Given the description of an element on the screen output the (x, y) to click on. 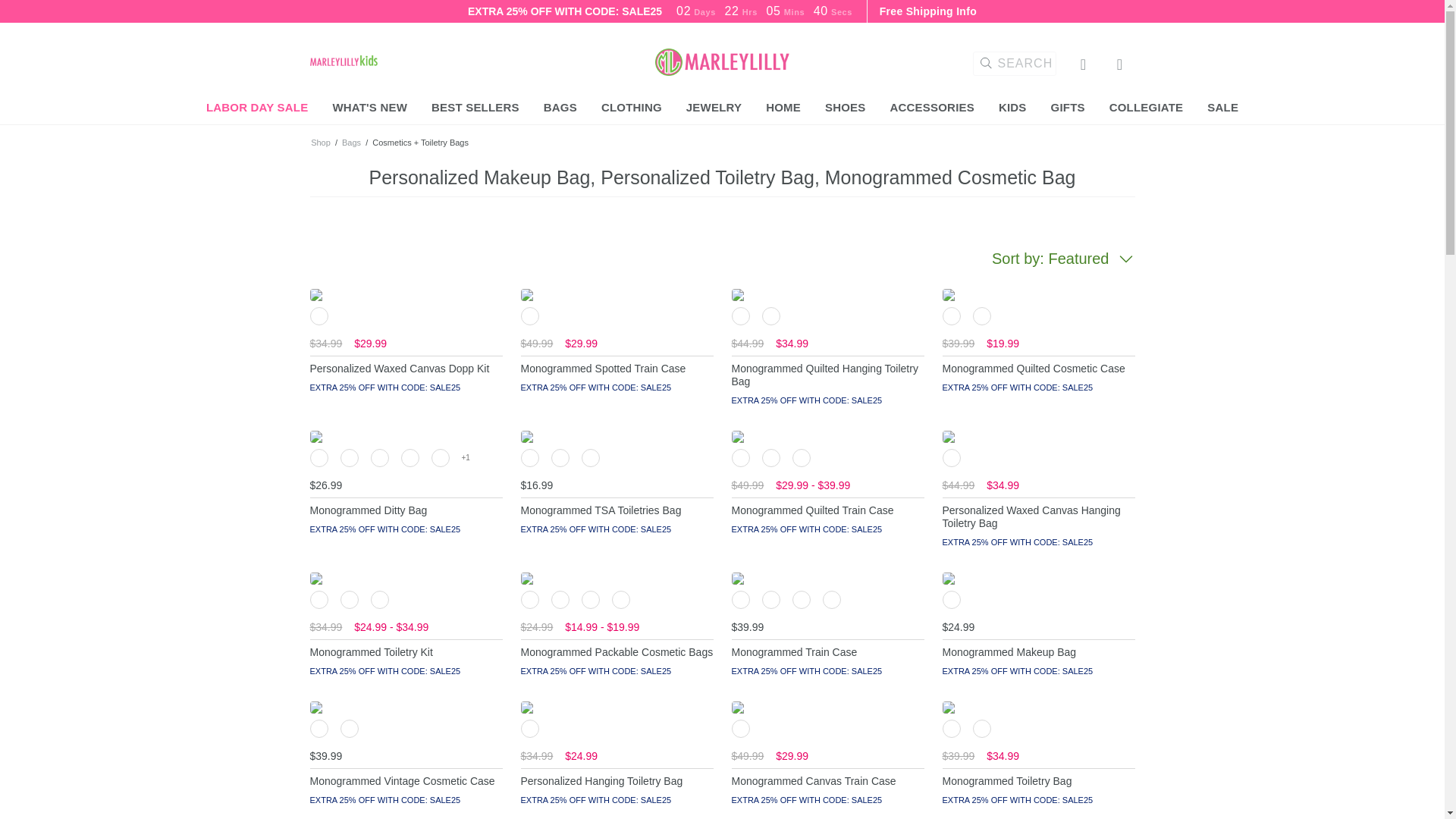
BAGS (559, 108)
LABOR DAY SALE (257, 108)
BEST SELLERS (474, 108)
Free Shipping Info (927, 11)
WHAT'S NEW (369, 108)
Monogrammed Kids' Clothing Sale (342, 59)
